Given the description of an element on the screen output the (x, y) to click on. 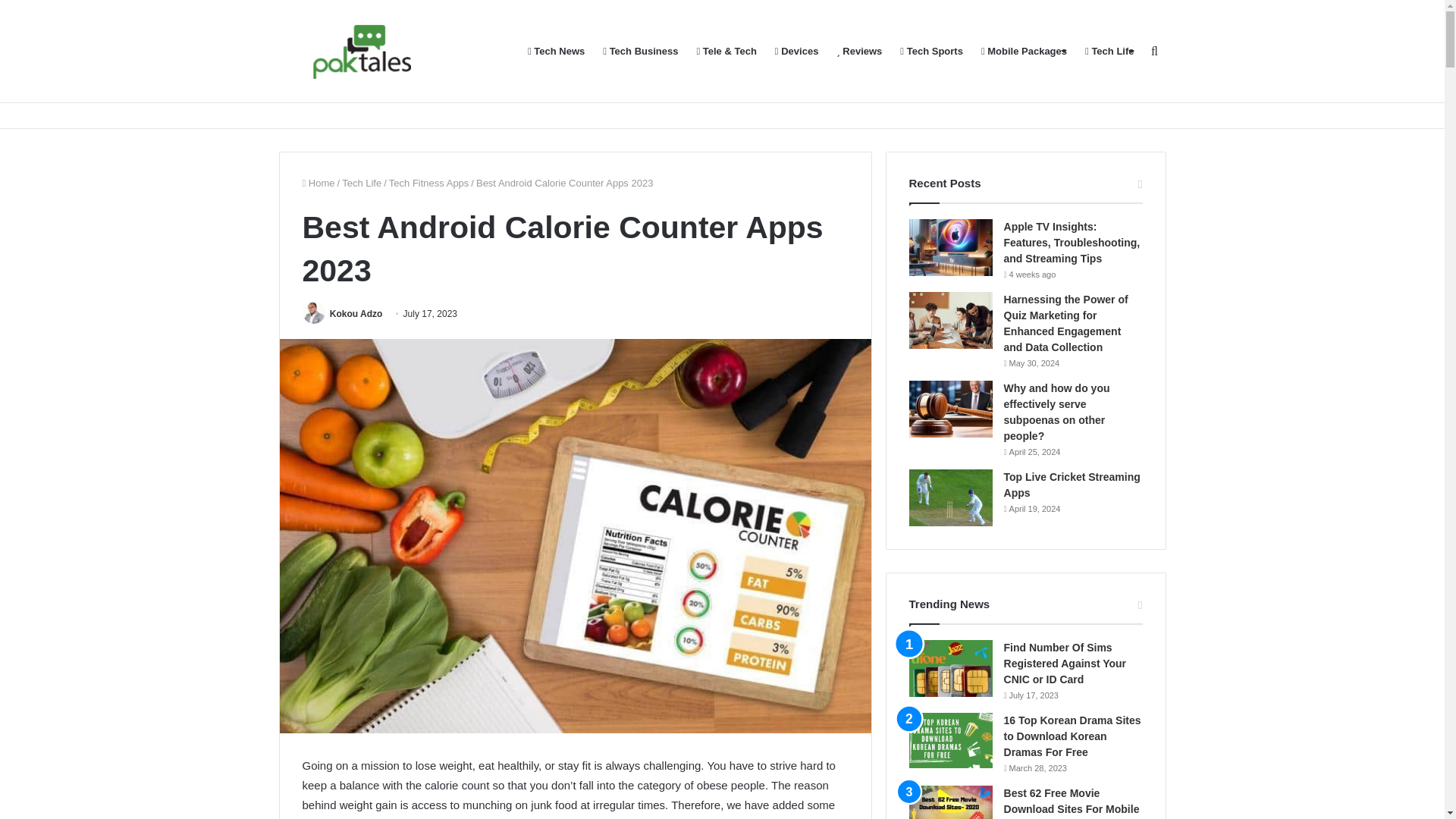
Kokou Adzo (356, 313)
Tech Fitness Apps (428, 183)
Paktales (362, 51)
Home (317, 183)
Tech Business (640, 51)
Mobile Packages (1023, 51)
Kokou Adzo (356, 313)
Tech Life (361, 183)
